Given the description of an element on the screen output the (x, y) to click on. 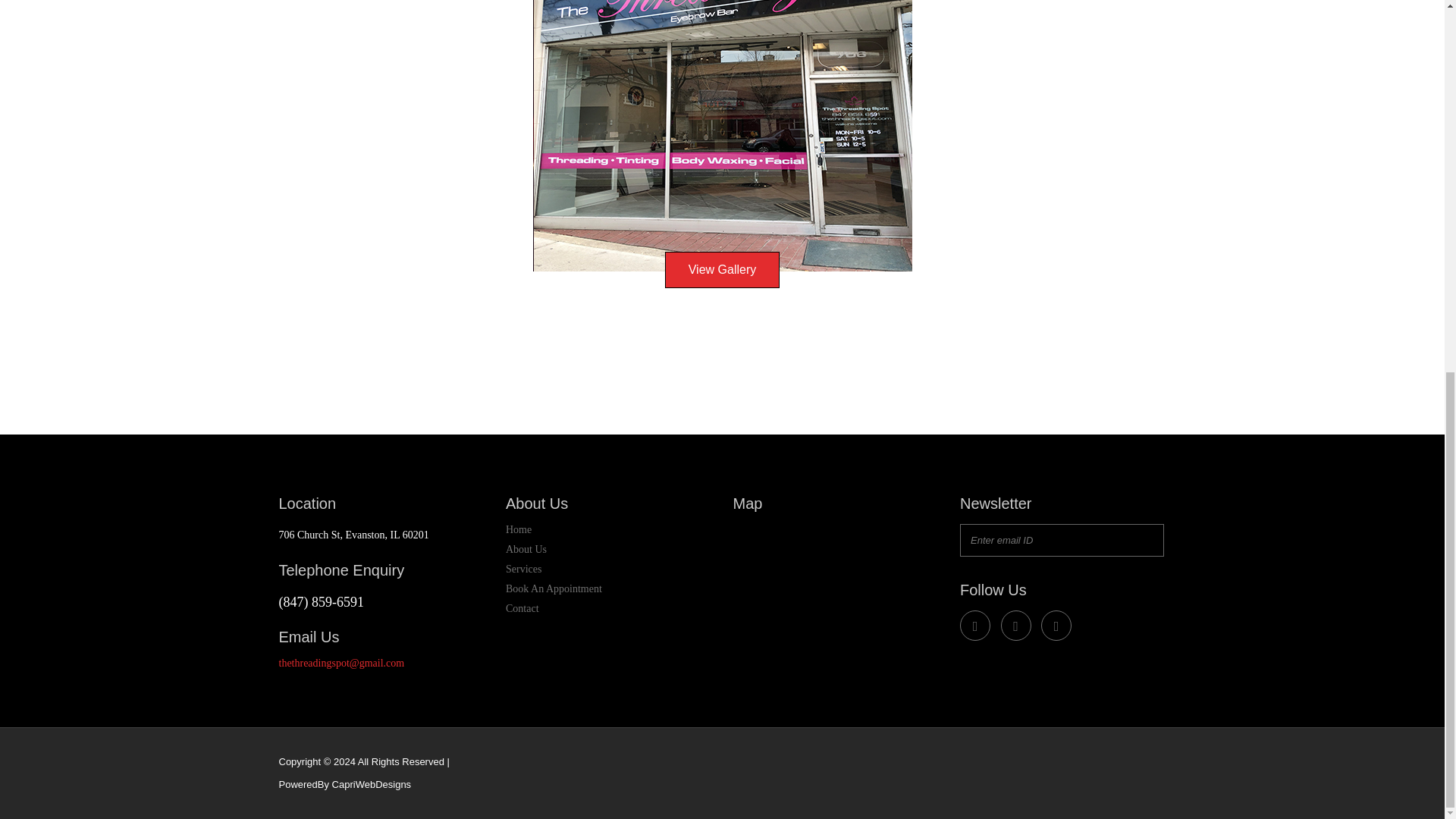
Book An Appointment (553, 588)
Home (518, 529)
Contact (521, 608)
View Gallery (722, 269)
PoweredBy CapriWebDesigns (345, 784)
About Us (526, 549)
Services (523, 568)
